Given the description of an element on the screen output the (x, y) to click on. 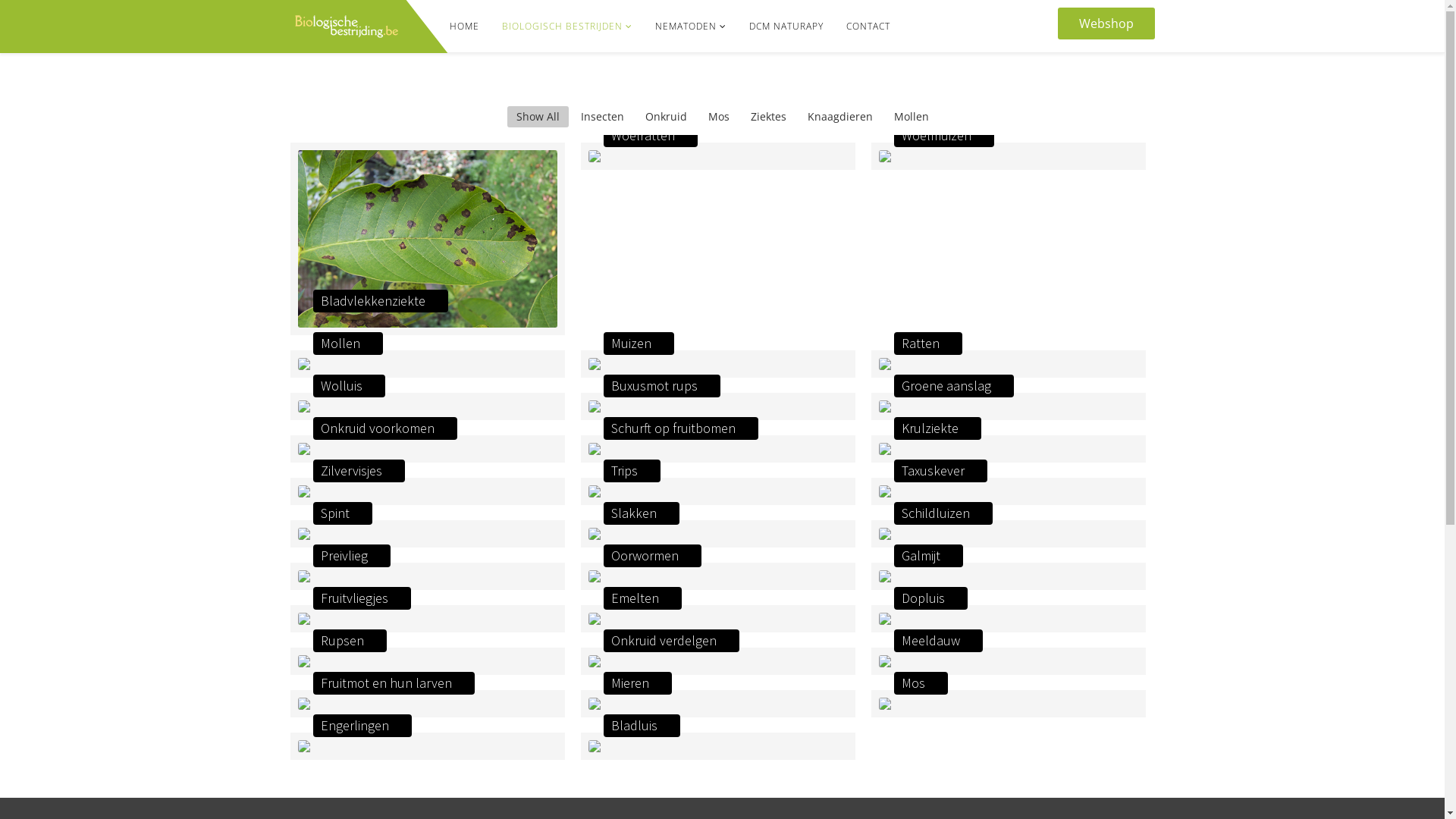
CONTACT Element type: text (867, 26)
DCM NATURAPY Element type: text (785, 26)
Onkruid Element type: text (665, 116)
NEMATODEN Element type: text (690, 26)
Knaagdieren Element type: text (839, 116)
Ziektes Element type: text (768, 116)
Mos Element type: text (718, 116)
Show All Element type: text (536, 116)
Mollen Element type: text (910, 116)
BIOLOGISCH BESTRIJDEN Element type: text (566, 26)
HOME Element type: text (464, 26)
Insecten Element type: text (602, 116)
Webshop Element type: text (1105, 23)
